Given the description of an element on the screen output the (x, y) to click on. 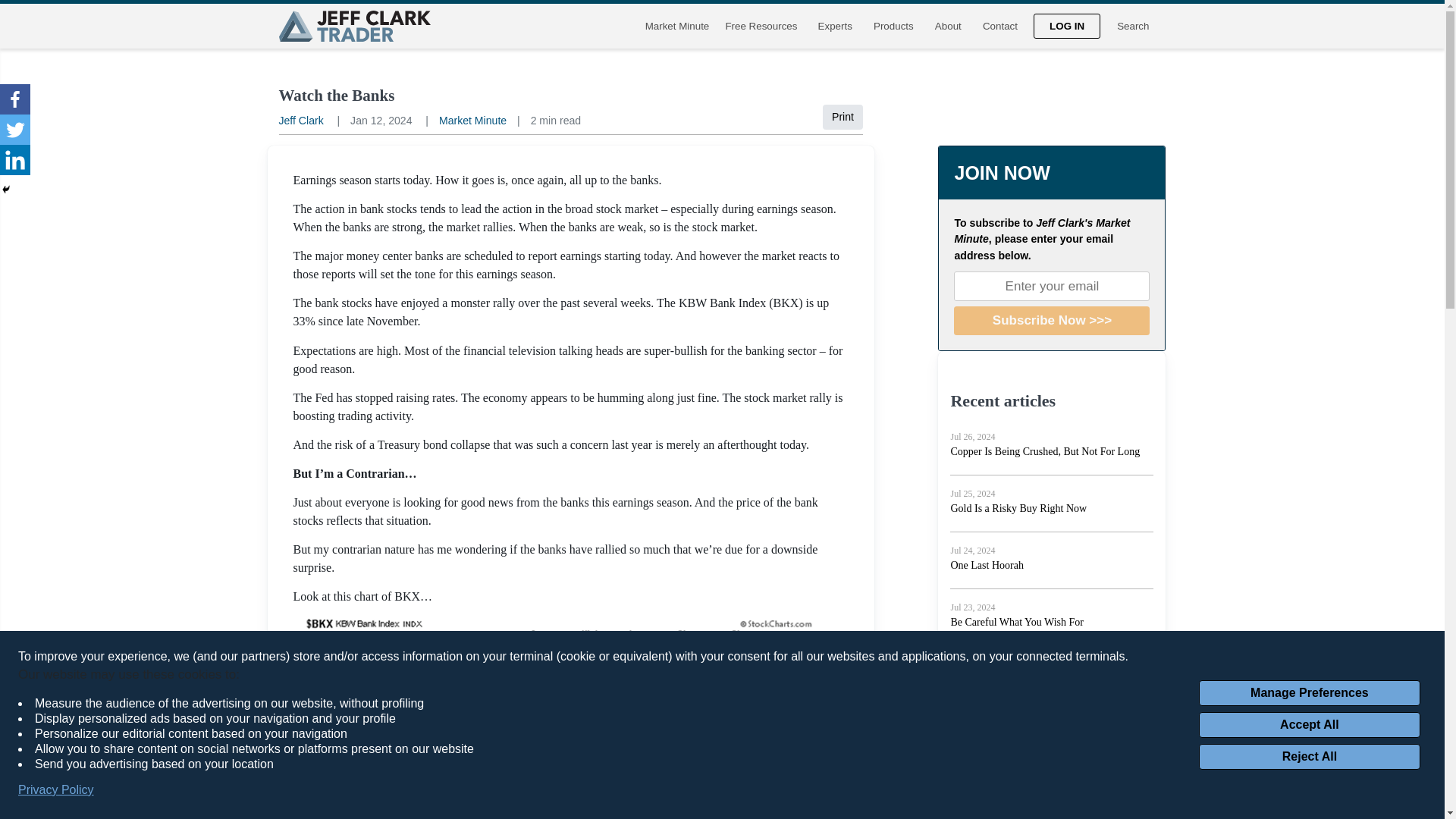
Copper Is Being Crushed, But Not For Long (1045, 451)
LOG IN (1066, 25)
Gold Is a Risky Buy Right Now (1018, 508)
Be Careful What You Wish For (1016, 622)
Accept All (1309, 724)
Search (1133, 25)
Privacy Policy (55, 789)
Reject All (1309, 756)
Hide (5, 189)
Products (892, 25)
Manage Preferences (1309, 692)
One Last Hoorah (986, 564)
Experts (834, 25)
Jeff Clark (301, 120)
About (948, 25)
